Given the description of an element on the screen output the (x, y) to click on. 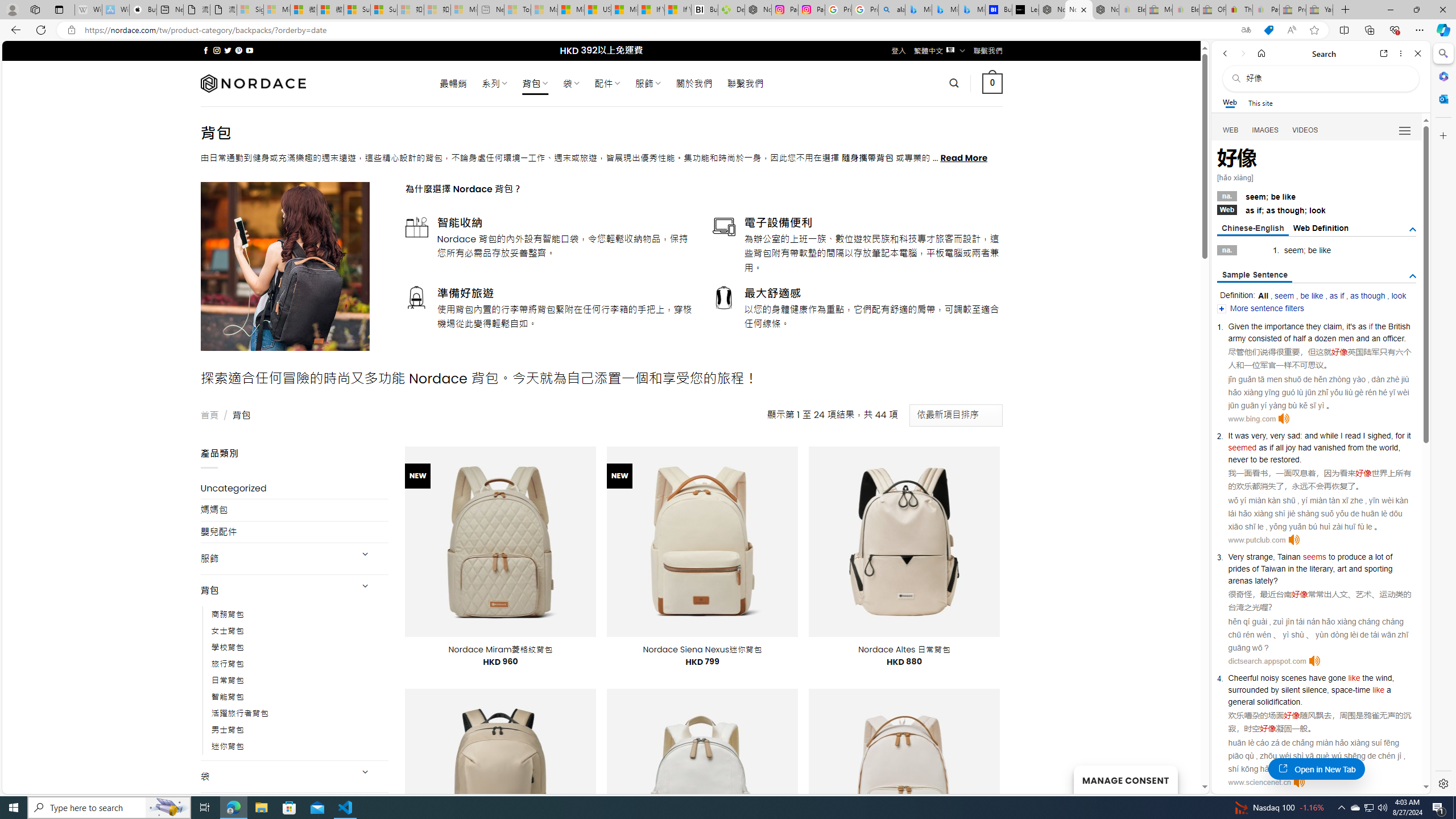
Read More (964, 157)
Uncategorized (294, 488)
world (1388, 447)
Uncategorized (294, 488)
